Given the description of an element on the screen output the (x, y) to click on. 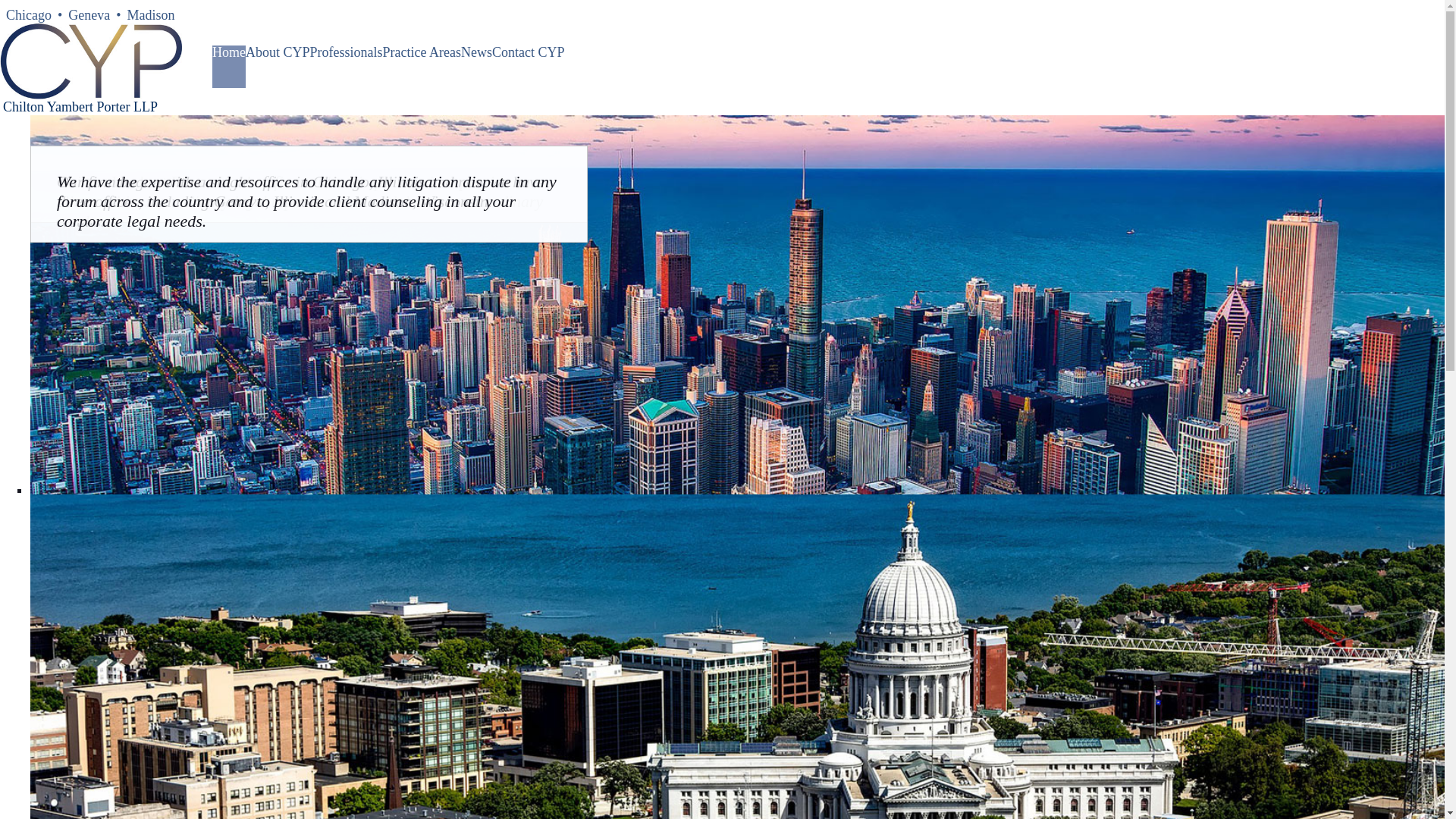
Professionals (346, 66)
Chicago Office (29, 14)
Chilton Yambert Porter LLP - Law Firm (91, 60)
Home (229, 66)
website design (1417, 810)
Contact CYP (528, 66)
About CYP (278, 66)
Law Firm website design by SilverTech Website Design and SEO (1417, 810)
About CYP (278, 66)
Home (229, 66)
Madison Office (150, 14)
Practice Areas (421, 66)
Madison (150, 14)
Geneva (89, 14)
Contact CYP (528, 66)
